Given the description of an element on the screen output the (x, y) to click on. 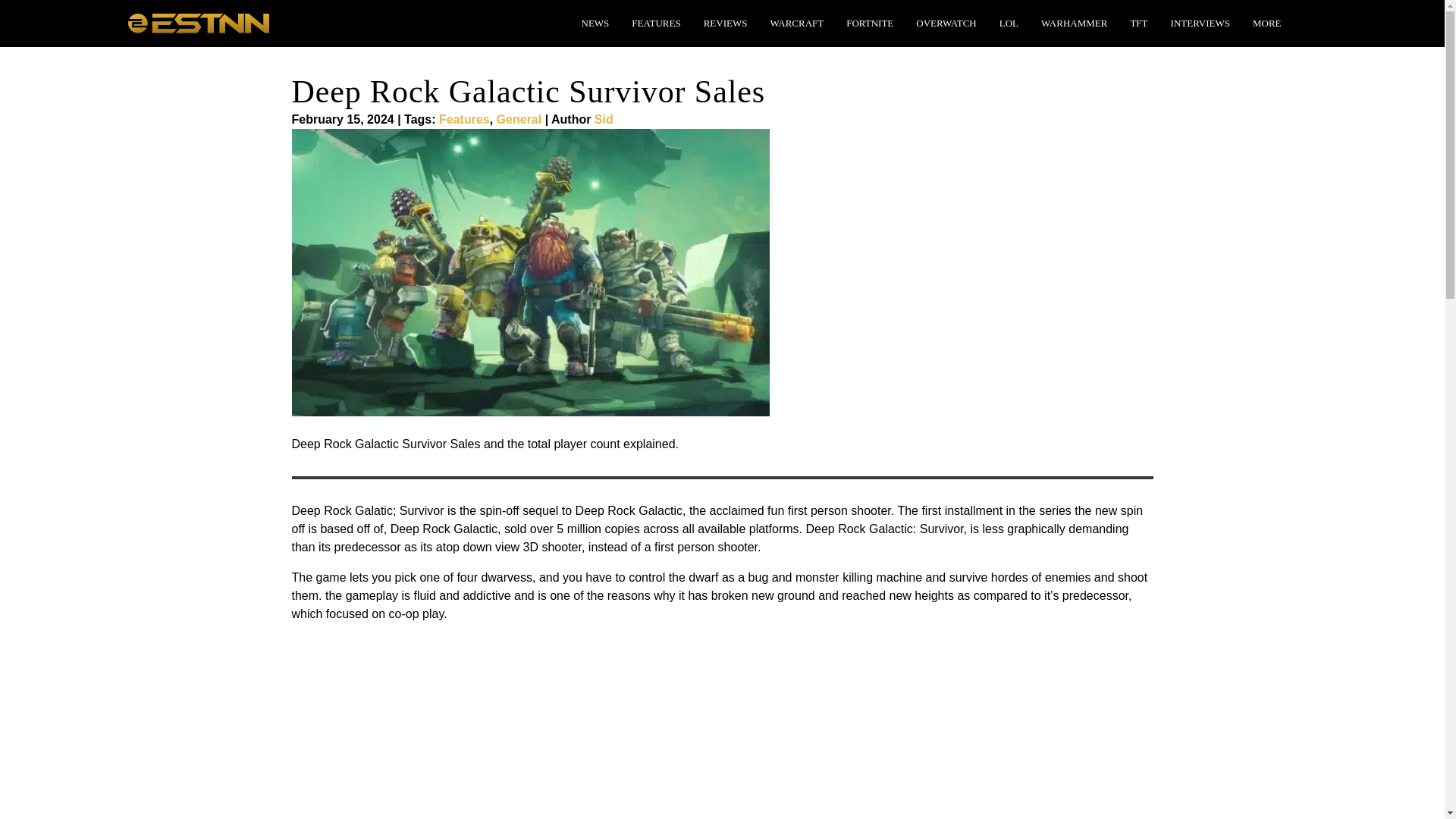
WARHAMMER (1074, 23)
NEWS (594, 23)
Features (464, 119)
WARCRAFT (796, 23)
LOL (1008, 23)
FEATURES (655, 23)
Posts by Sid (603, 119)
Deep Rock Galactic: Survivor - Announcement Trailer (480, 727)
FORTNITE (869, 23)
MORE (1266, 23)
